Given the description of an element on the screen output the (x, y) to click on. 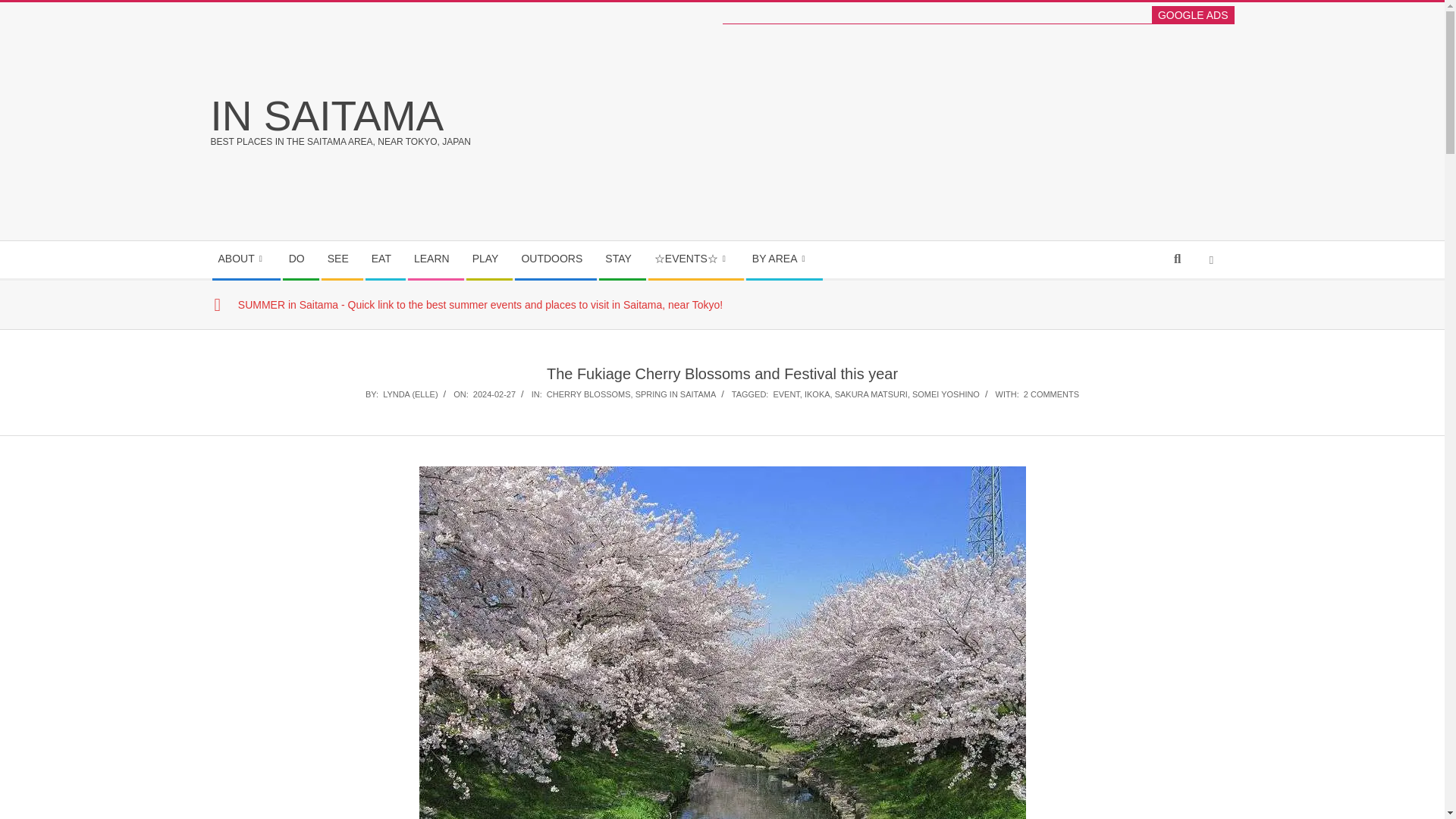
OUTDOORS (554, 259)
ABOUT (246, 259)
BY AREA (784, 259)
PLAY (488, 259)
Tuesday, February 27, 2024, 10:29 pm (494, 393)
EAT (385, 259)
LEARN (435, 259)
SEE (342, 259)
Advertisement (1000, 130)
DO (300, 259)
STAY (621, 259)
IN SAITAMA (327, 115)
